Given the description of an element on the screen output the (x, y) to click on. 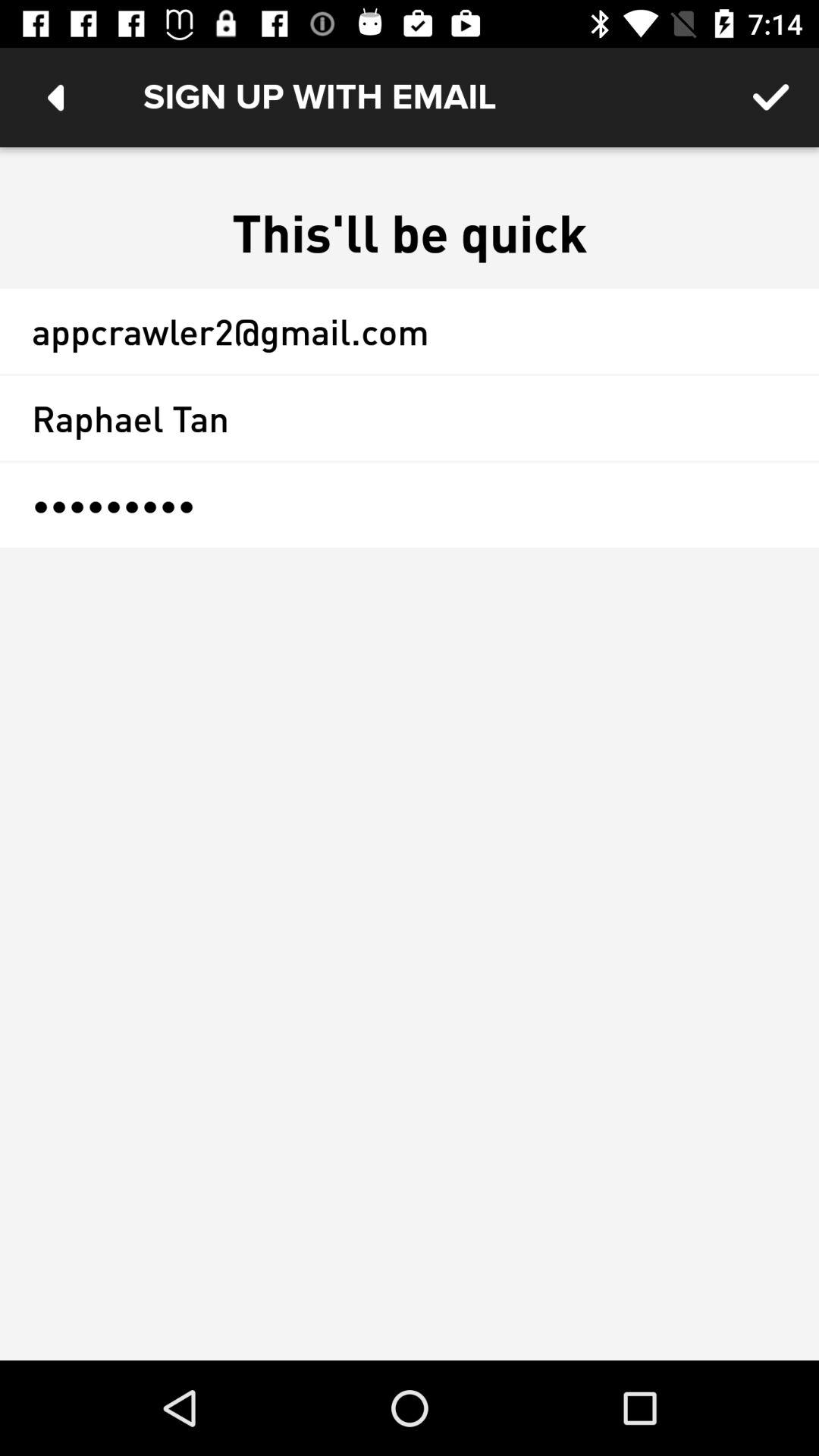
jump to the crowd3116 icon (409, 504)
